Given the description of an element on the screen output the (x, y) to click on. 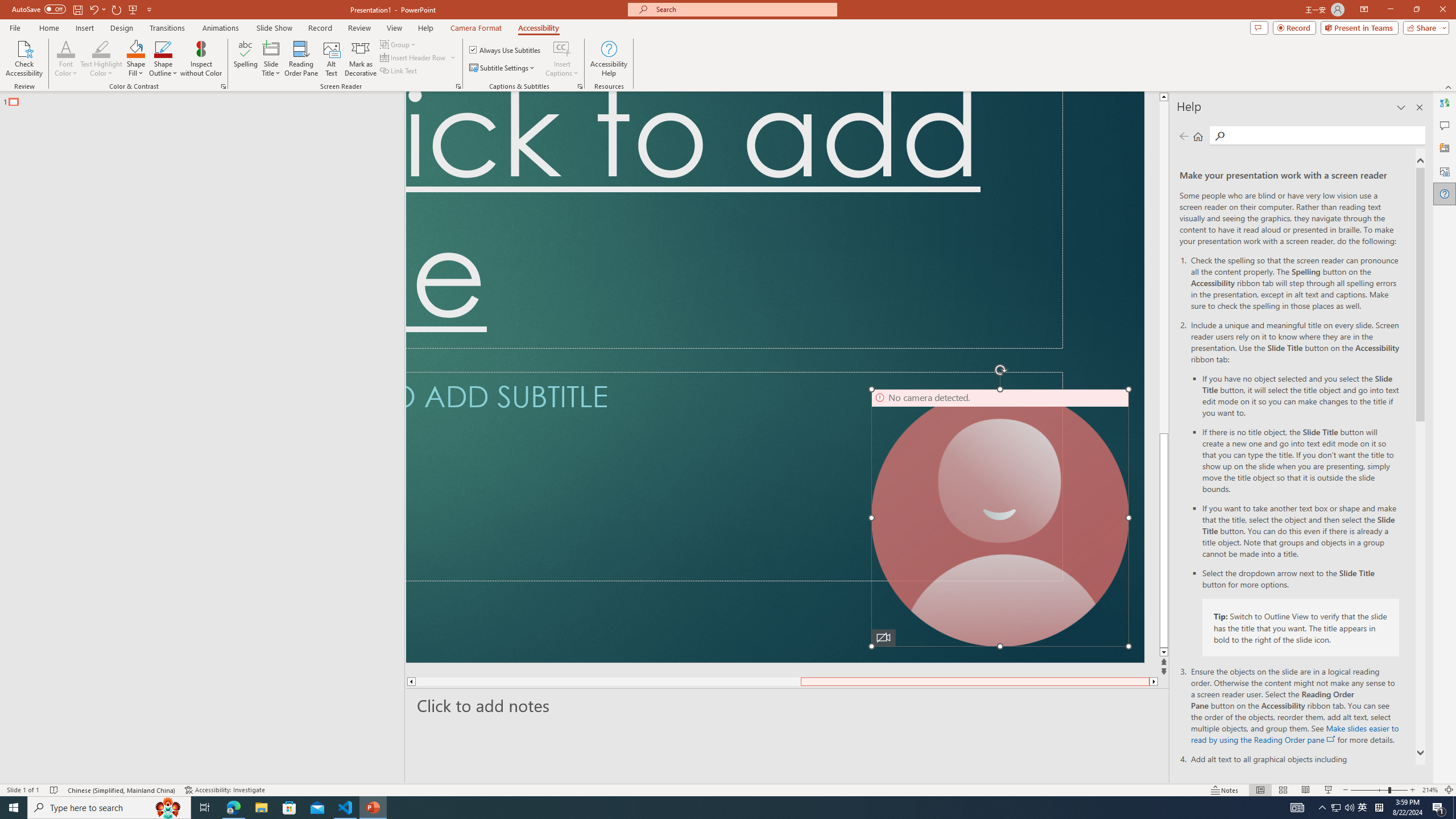
Insert Captions (561, 58)
Accessibility Help (608, 58)
Spelling... (245, 58)
Subtitle Settings (502, 67)
Shape Outline Blue, Accent 1 (163, 48)
Zoom 214% (1430, 790)
Captions & Subtitles (580, 85)
